Given the description of an element on the screen output the (x, y) to click on. 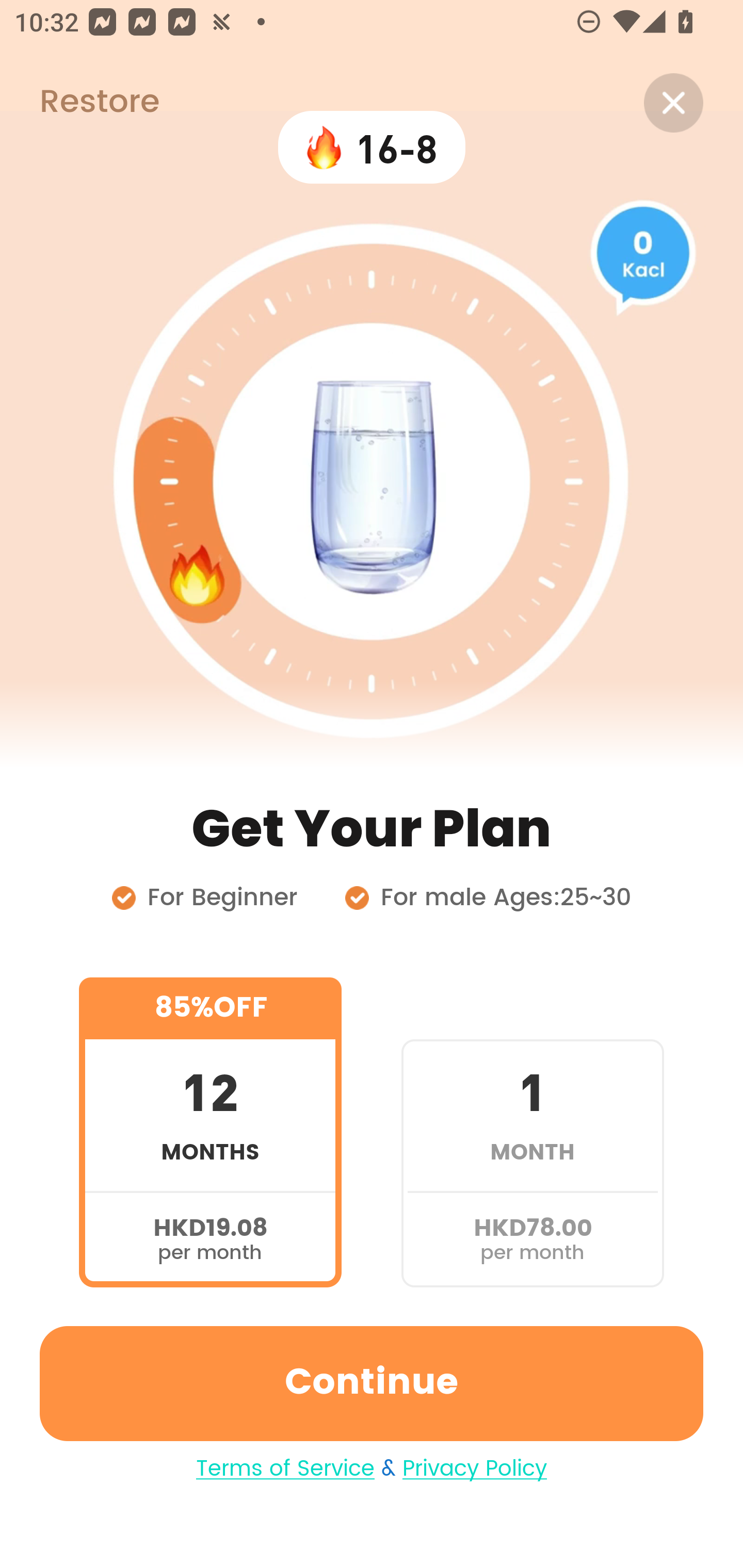
Restore (79, 102)
85%OFF 12 MONTHS per month HKD19.08 (209, 1131)
1 MONTH per month HKD78.00 (532, 1131)
Continue (371, 1383)
